Given the description of an element on the screen output the (x, y) to click on. 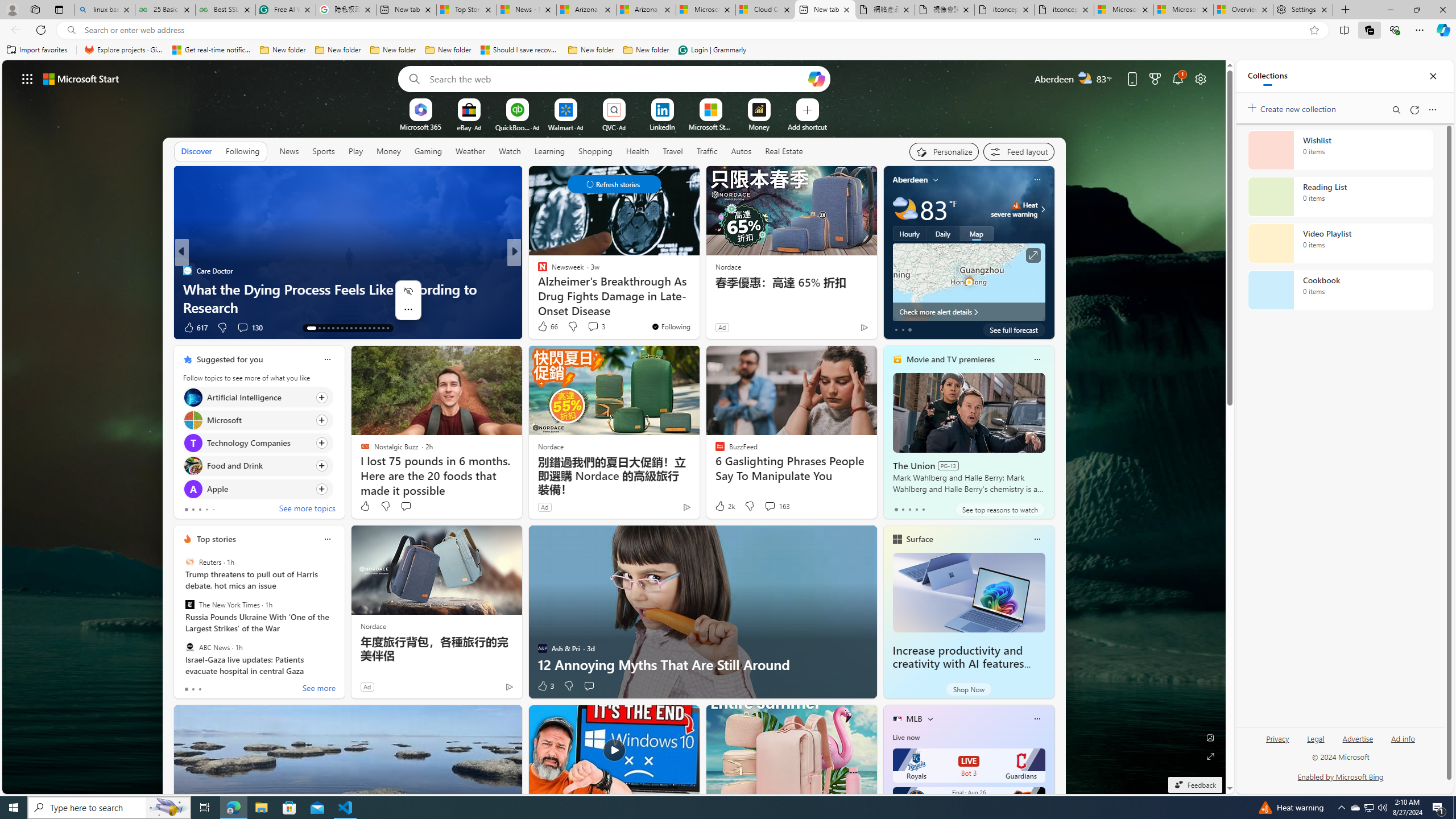
Autos (740, 151)
Click to follow topic Apple (257, 488)
Map (975, 233)
AutomationID: tab-29 (387, 328)
See full forecast (1013, 329)
95 Like (543, 327)
Class: weather-arrow-glyph (1043, 208)
Edit Background (1210, 737)
66 Like (546, 326)
AutomationID: tab-23 (360, 328)
